Given the description of an element on the screen output the (x, y) to click on. 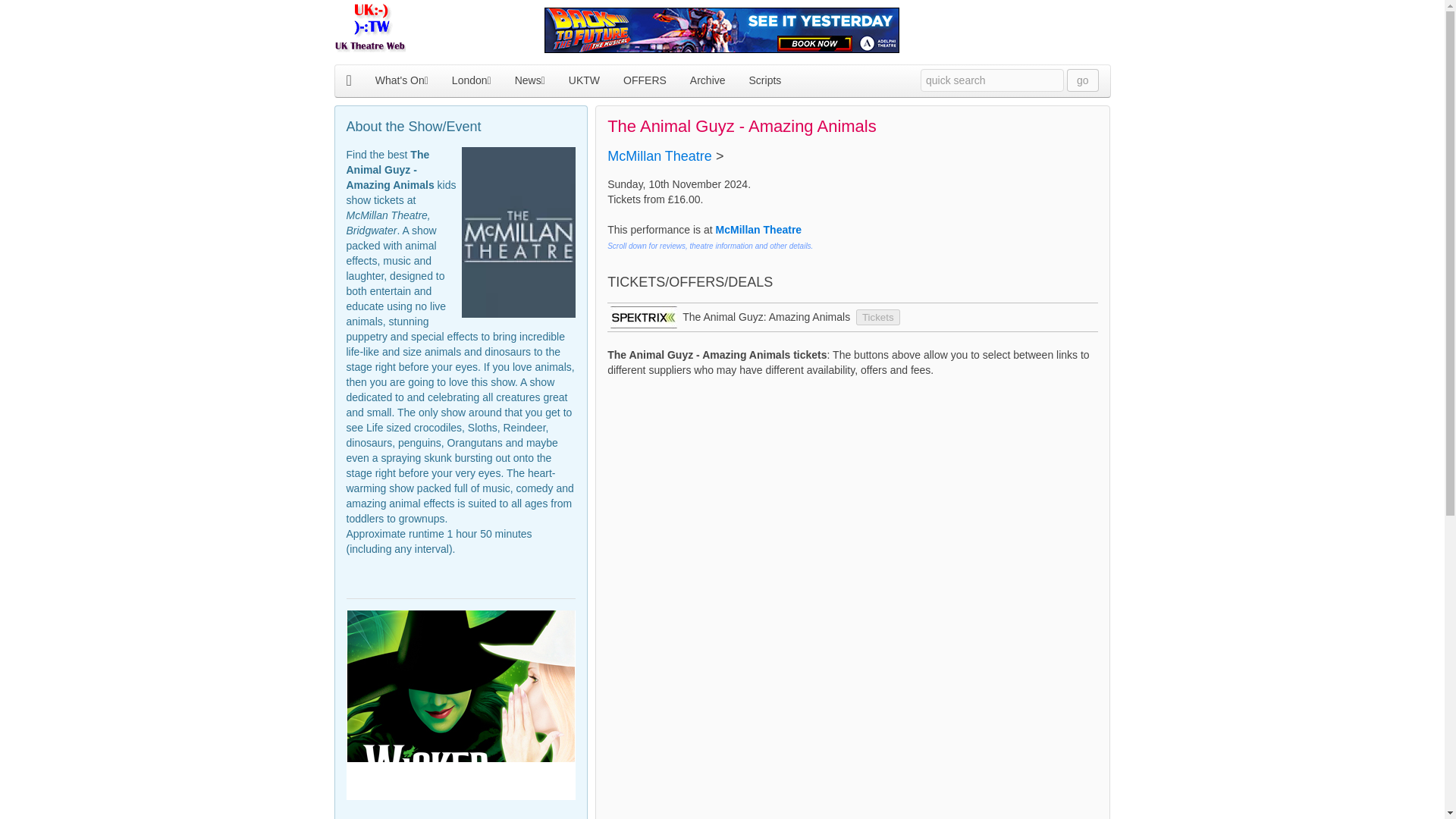
Menu (717, 80)
Scripts (764, 79)
Archive (708, 79)
Go to Tickets (877, 317)
OFFERS (644, 79)
advert (460, 695)
Home (347, 79)
London (471, 79)
advert (721, 30)
UKTW (583, 79)
